Given the description of an element on the screen output the (x, y) to click on. 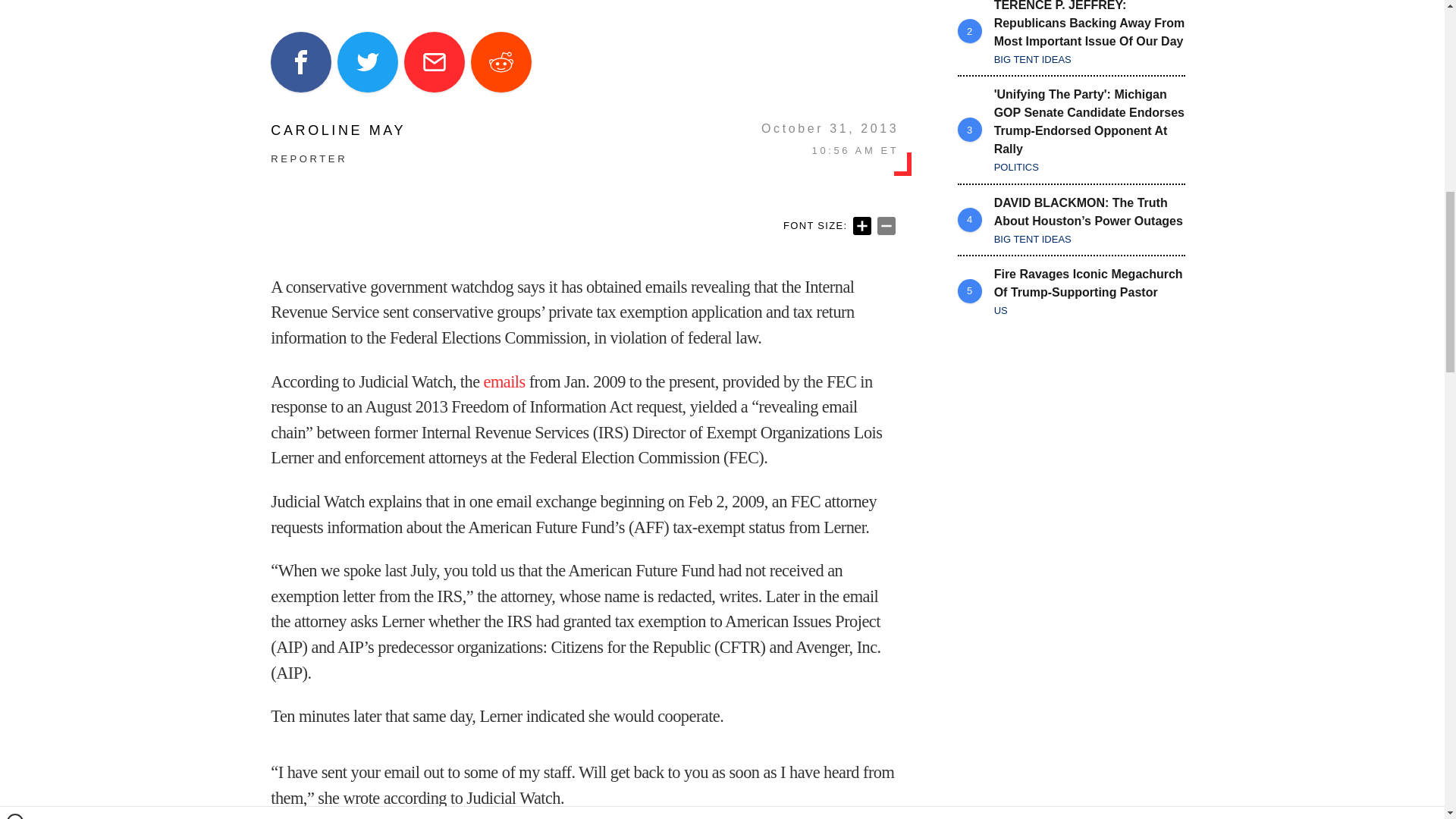
View More Articles By Caroline May (338, 130)
Close window (14, 6)
CAROLINE MAY (338, 130)
emails (504, 381)
